Given the description of an element on the screen output the (x, y) to click on. 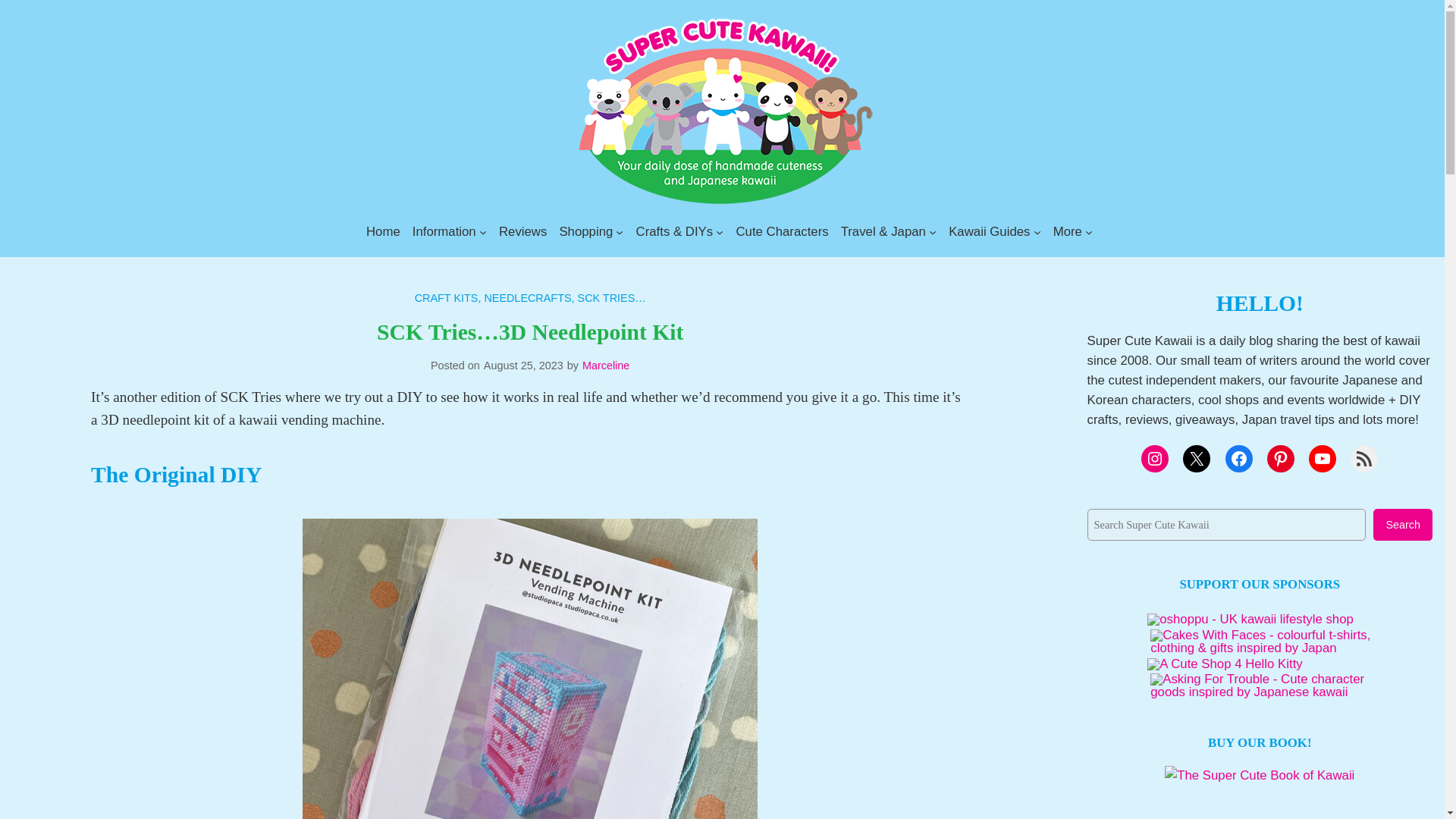
Home (383, 231)
Shopping (585, 231)
Information (444, 231)
Reviews (523, 231)
